Given the description of an element on the screen output the (x, y) to click on. 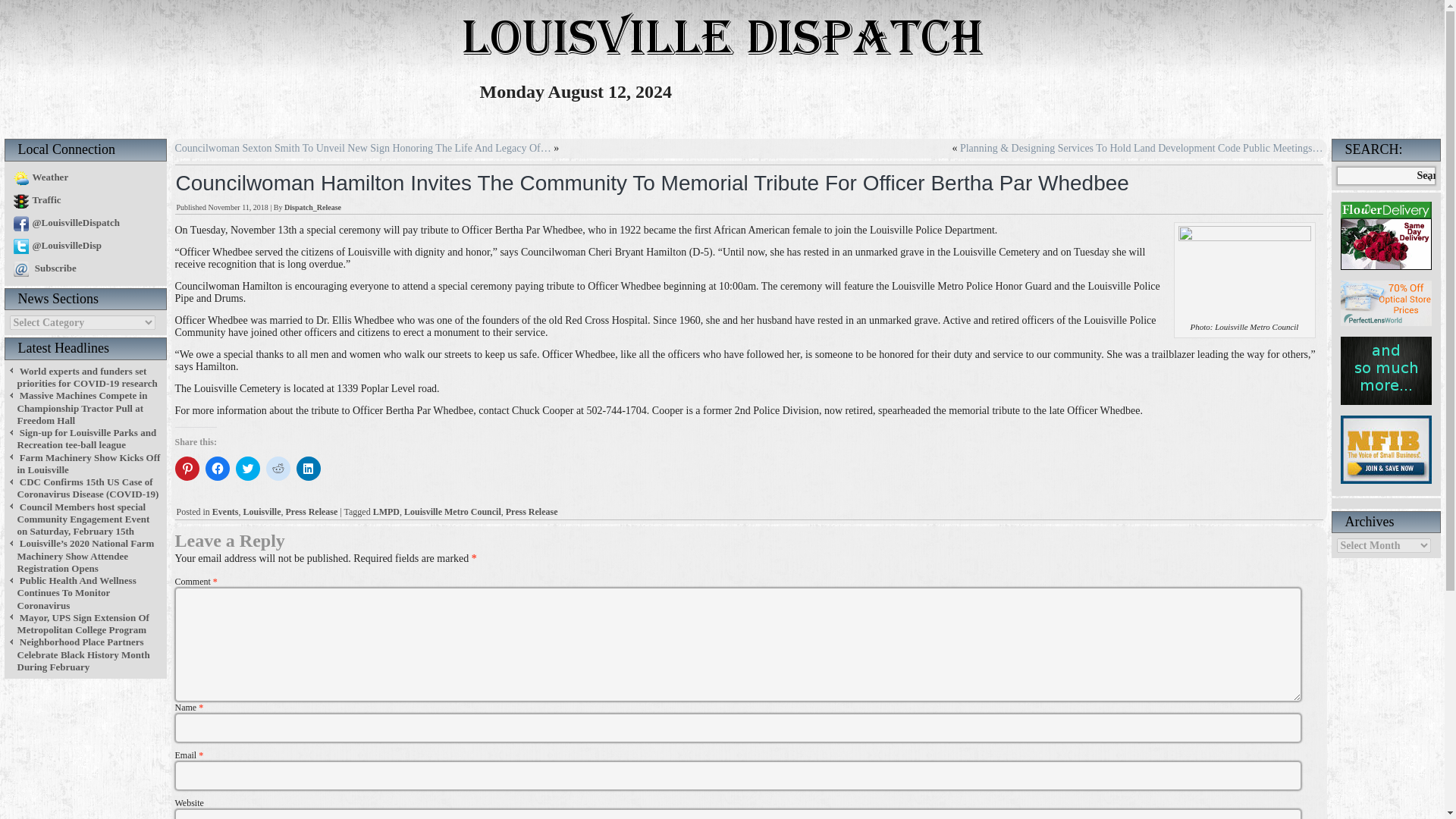
Press Release (311, 511)
Click to share on Facebook (216, 468)
Subscribe (41, 267)
Weather (38, 176)
Click to share on Twitter (246, 468)
Events (225, 511)
Click to share on LinkedIn (307, 468)
